Given the description of an element on the screen output the (x, y) to click on. 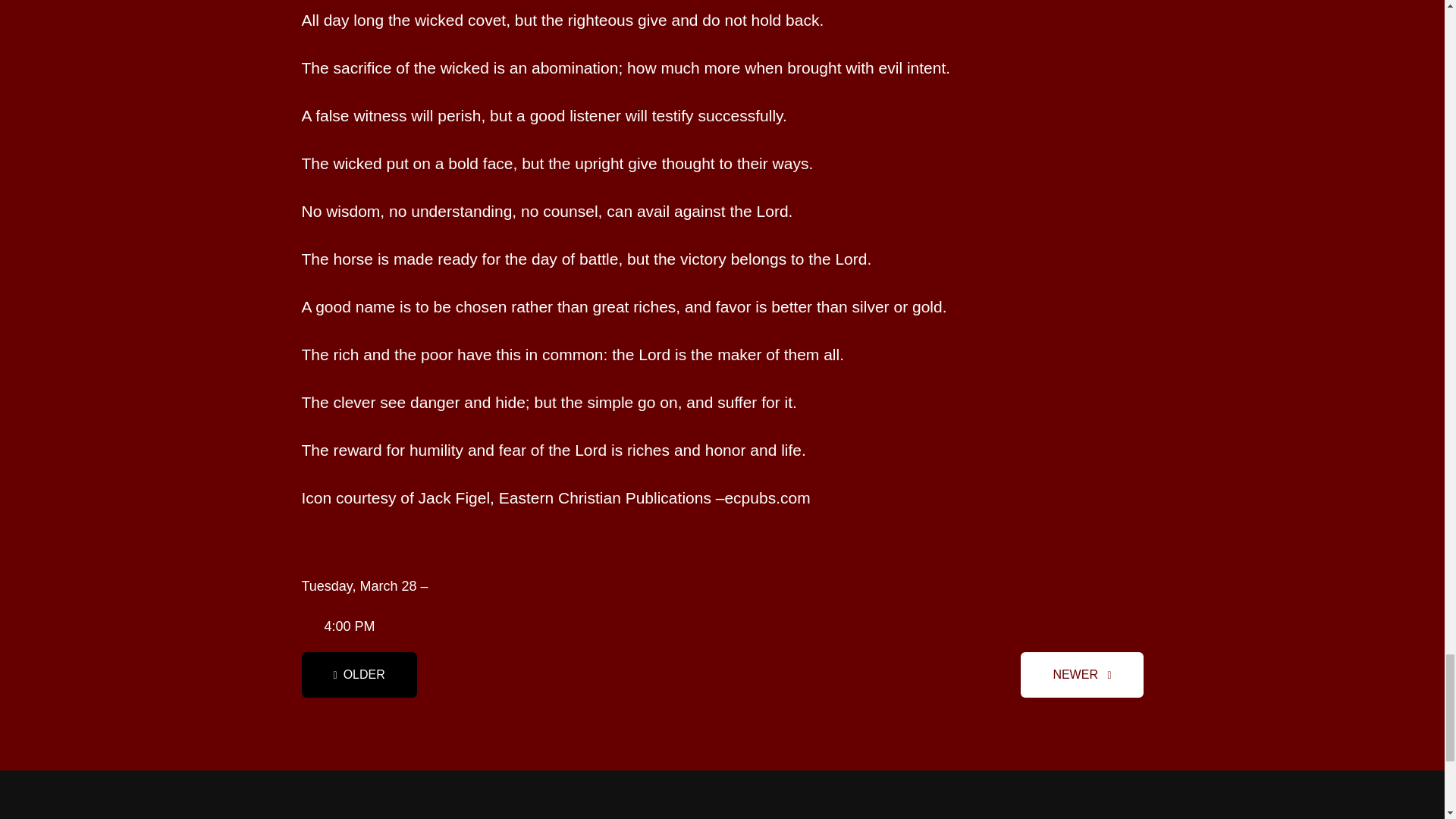
OLDER (358, 674)
NEWER (1081, 674)
ecpubs.com (766, 498)
